Given the description of an element on the screen output the (x, y) to click on. 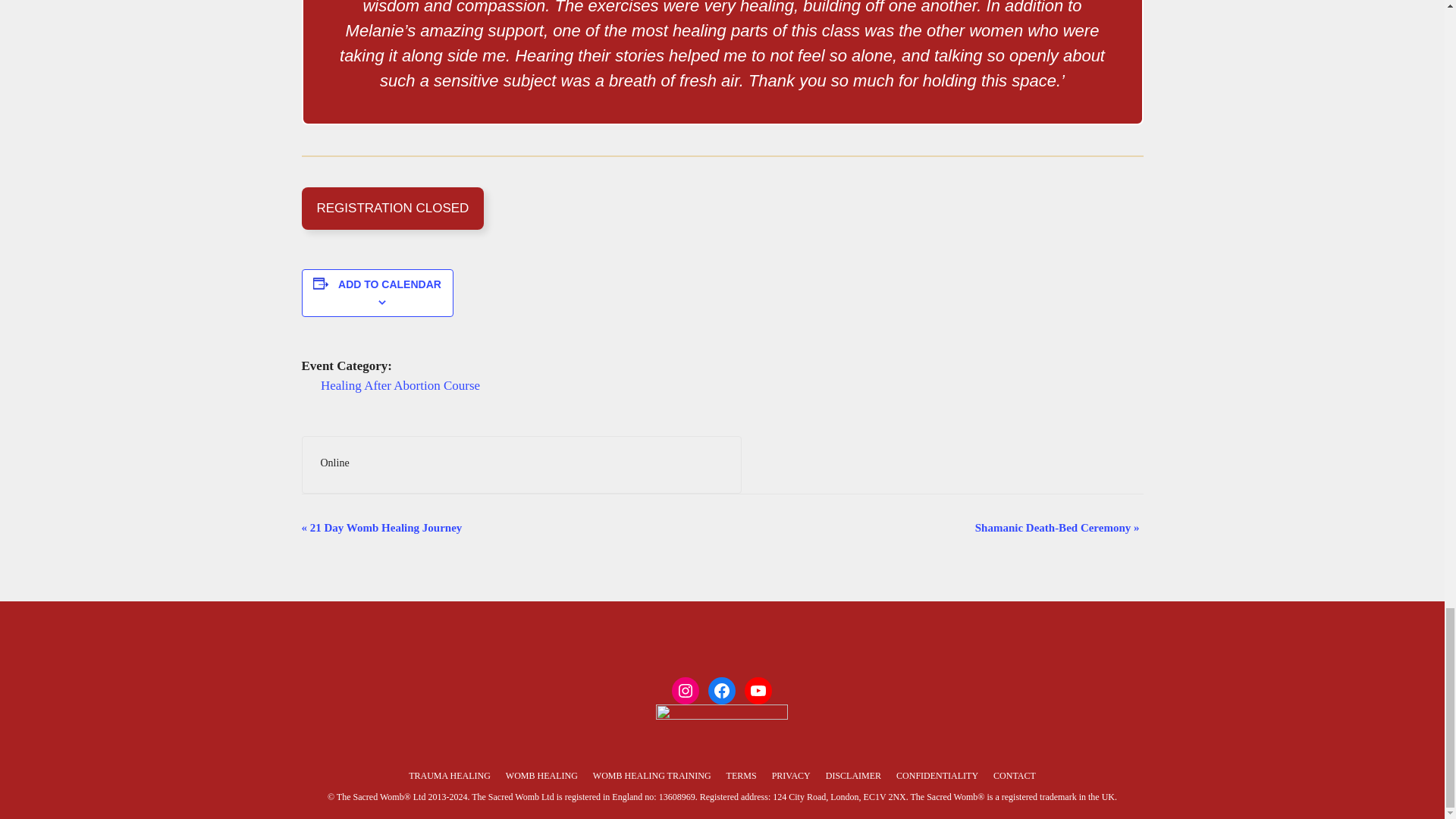
Instagram (684, 690)
WOMB HEALING TRAINING (651, 775)
Healing After Abortion Course (400, 385)
YouTube (757, 690)
WOMB HEALING (541, 775)
Facebook (721, 690)
TRAUMA HEALING (449, 775)
ADD TO CALENDAR (389, 284)
TERMS (741, 775)
PRIVACY (790, 775)
